Given the description of an element on the screen output the (x, y) to click on. 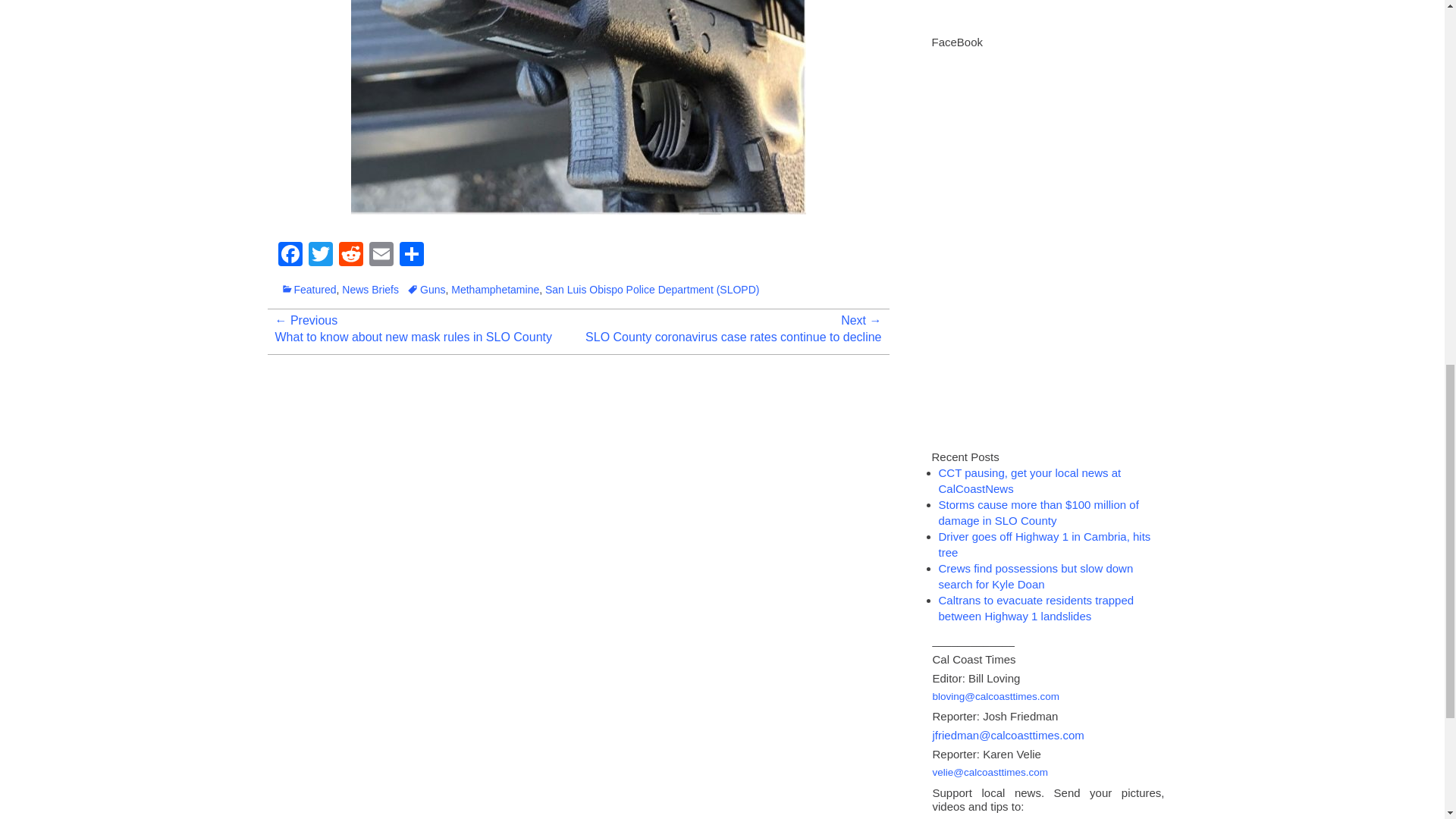
Driver goes off Highway 1 in Cambria, hits tree (1045, 543)
Reddit (349, 255)
Crews find possessions but slow down search for Kyle Doan (1036, 575)
Methamphetamine (494, 289)
3rd party ad content (1040, 13)
CCT pausing, get your local news at CalCoastNews (1030, 480)
Share (411, 255)
Email (380, 255)
Twitter (319, 255)
Reddit (349, 255)
Facebook (289, 255)
Email (380, 255)
News Briefs (370, 289)
Twitter (319, 255)
